Given the description of an element on the screen output the (x, y) to click on. 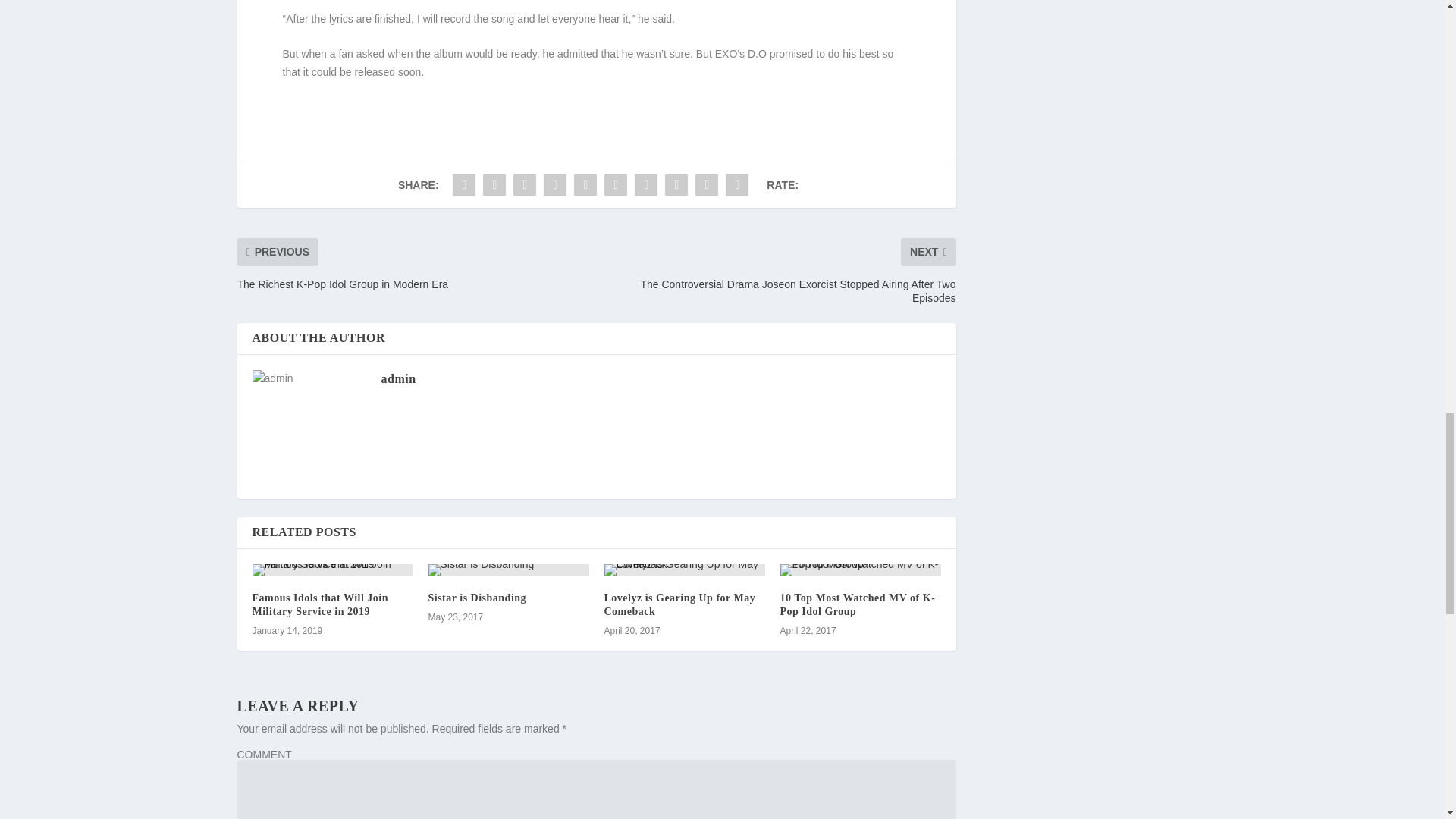
admin (397, 378)
View all posts by admin (397, 378)
Famous Idols that Will Join Military Service in 2019 (319, 604)
